Given the description of an element on the screen output the (x, y) to click on. 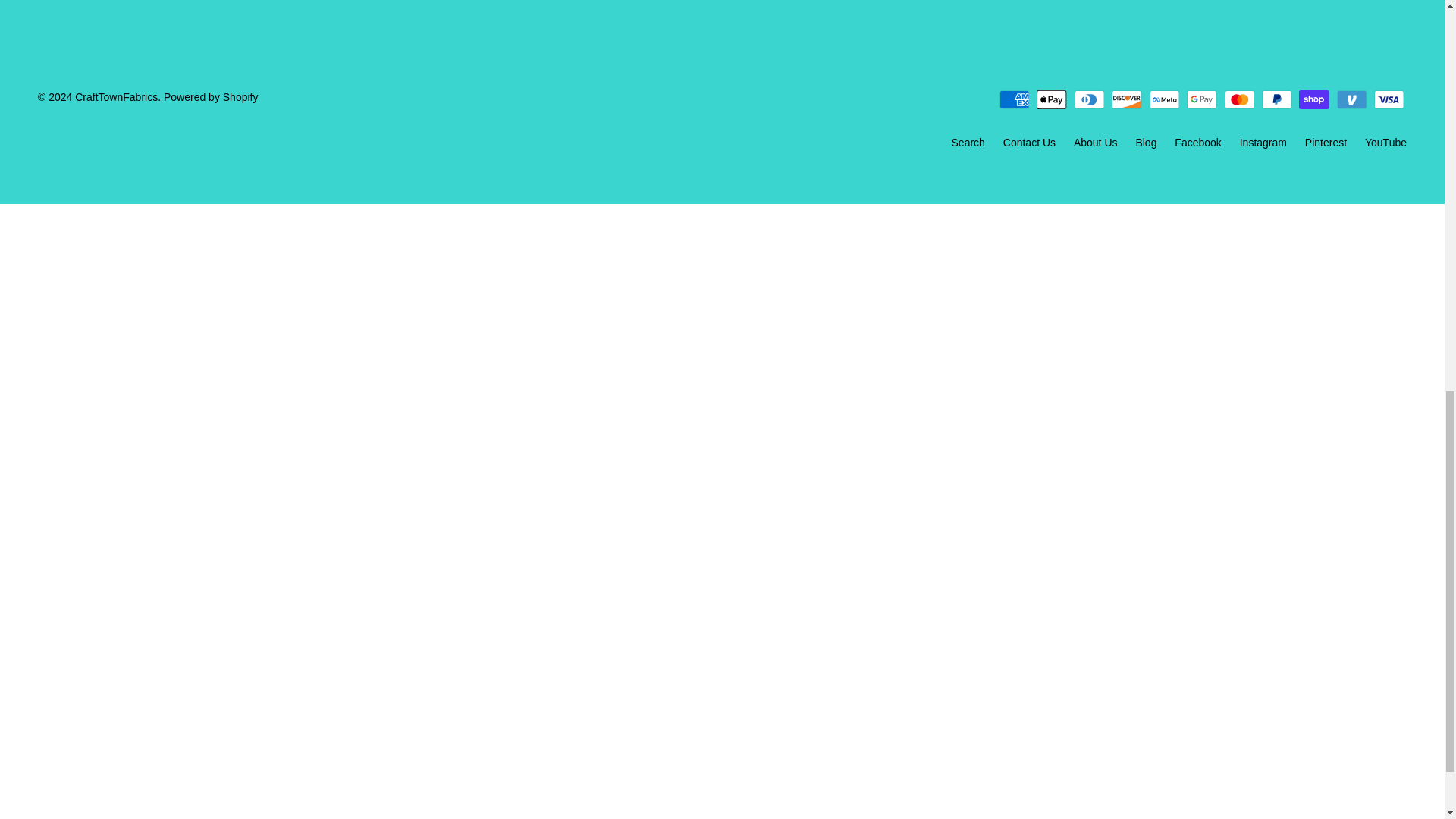
Apple Pay (1051, 99)
American Express (1013, 99)
Venmo (1351, 99)
Shop Pay (1313, 99)
Meta Pay (1164, 99)
PayPal (1276, 99)
Discover (1126, 99)
Google Pay (1201, 99)
Visa (1388, 99)
Mastercard (1239, 99)
